Given the description of an element on the screen output the (x, y) to click on. 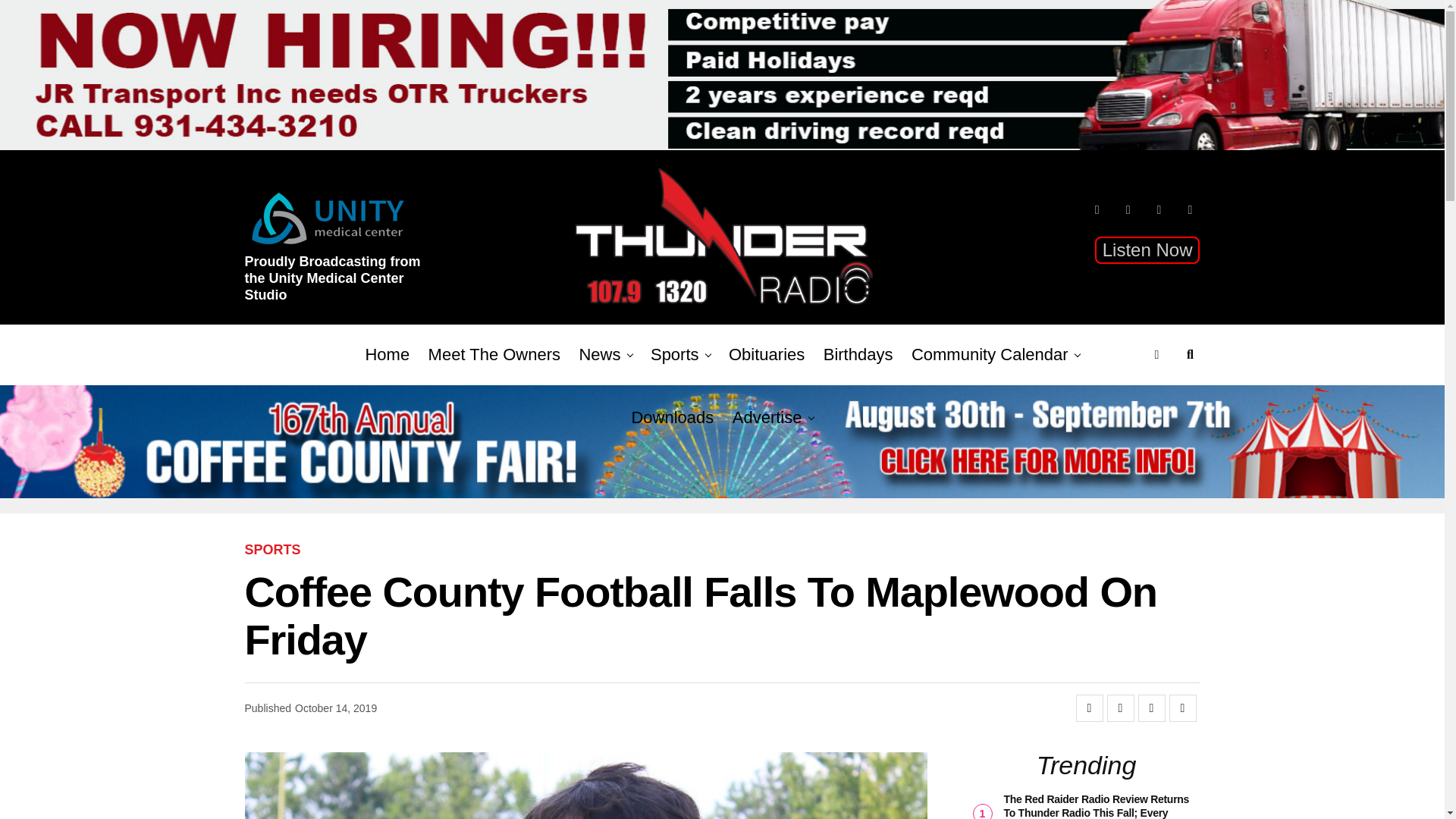
Sports (674, 354)
Share on Facebook (1088, 707)
Meet The Owners (493, 354)
Proudly Broadcasting from the Unity Medical Center Studio (338, 284)
Tweet This Post (1120, 707)
Home (386, 354)
Listen Now (1146, 249)
News (598, 354)
